Given the description of an element on the screen output the (x, y) to click on. 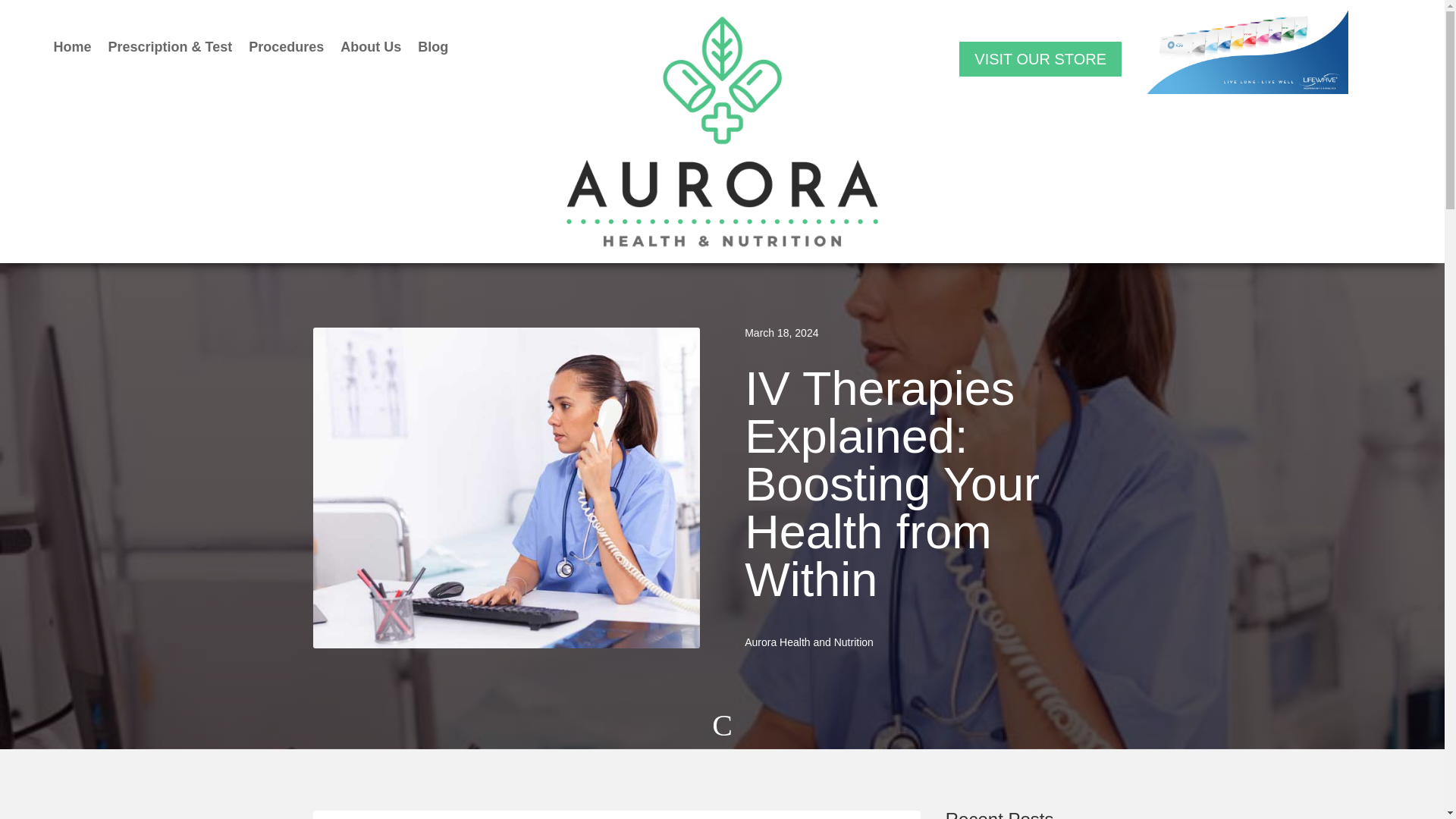
C (721, 731)
VISIT OUR STORE (1040, 58)
Home (71, 49)
Blog (432, 49)
Lifewave (1247, 52)
About Us (370, 49)
Procedures (285, 49)
